Given the description of an element on the screen output the (x, y) to click on. 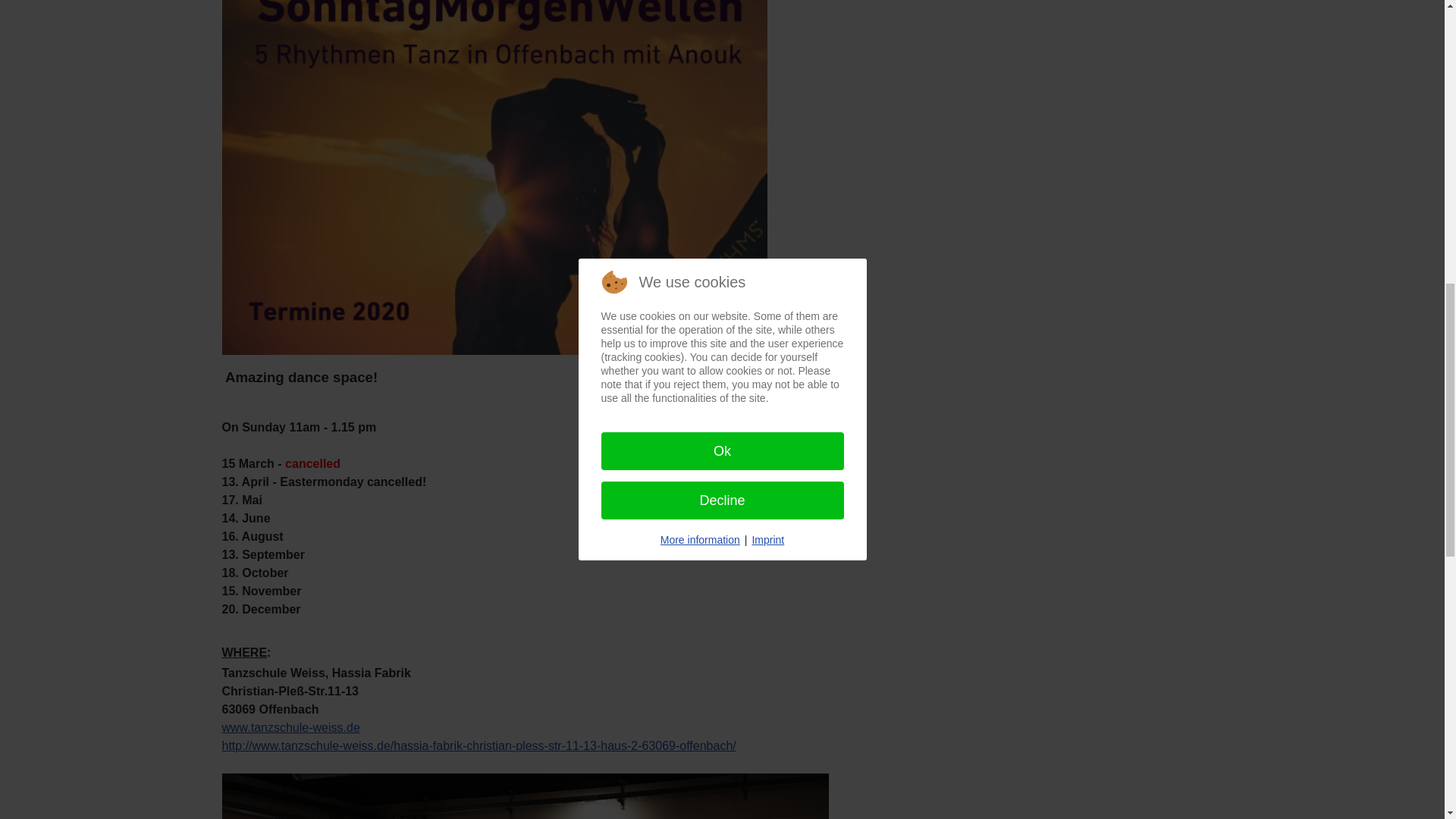
www.tanzschule-weiss.de (290, 727)
